Given the description of an element on the screen output the (x, y) to click on. 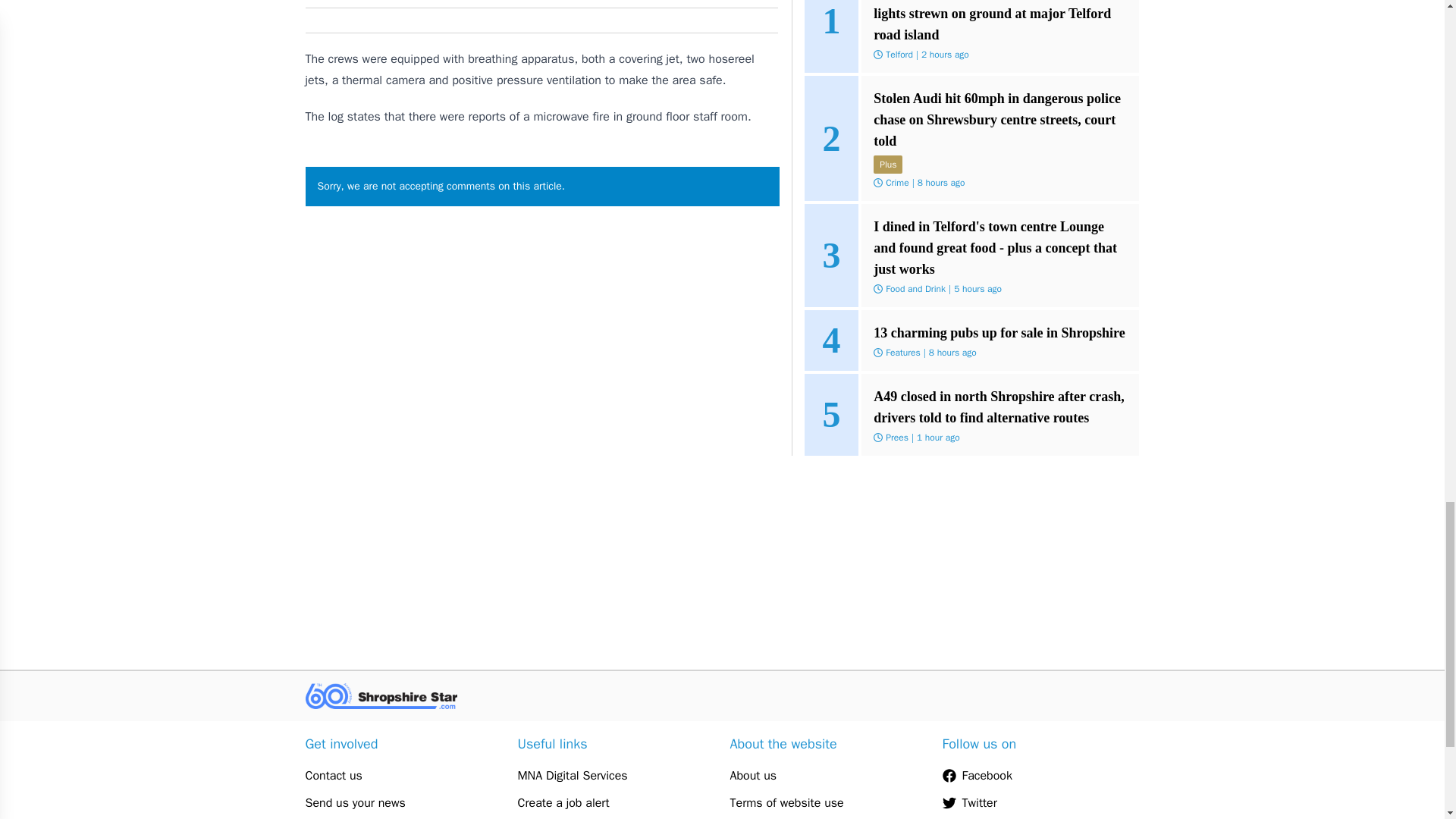
Prees (896, 437)
Telford (898, 54)
Food and Drink (914, 288)
Features (902, 352)
Crime (896, 182)
